Given the description of an element on the screen output the (x, y) to click on. 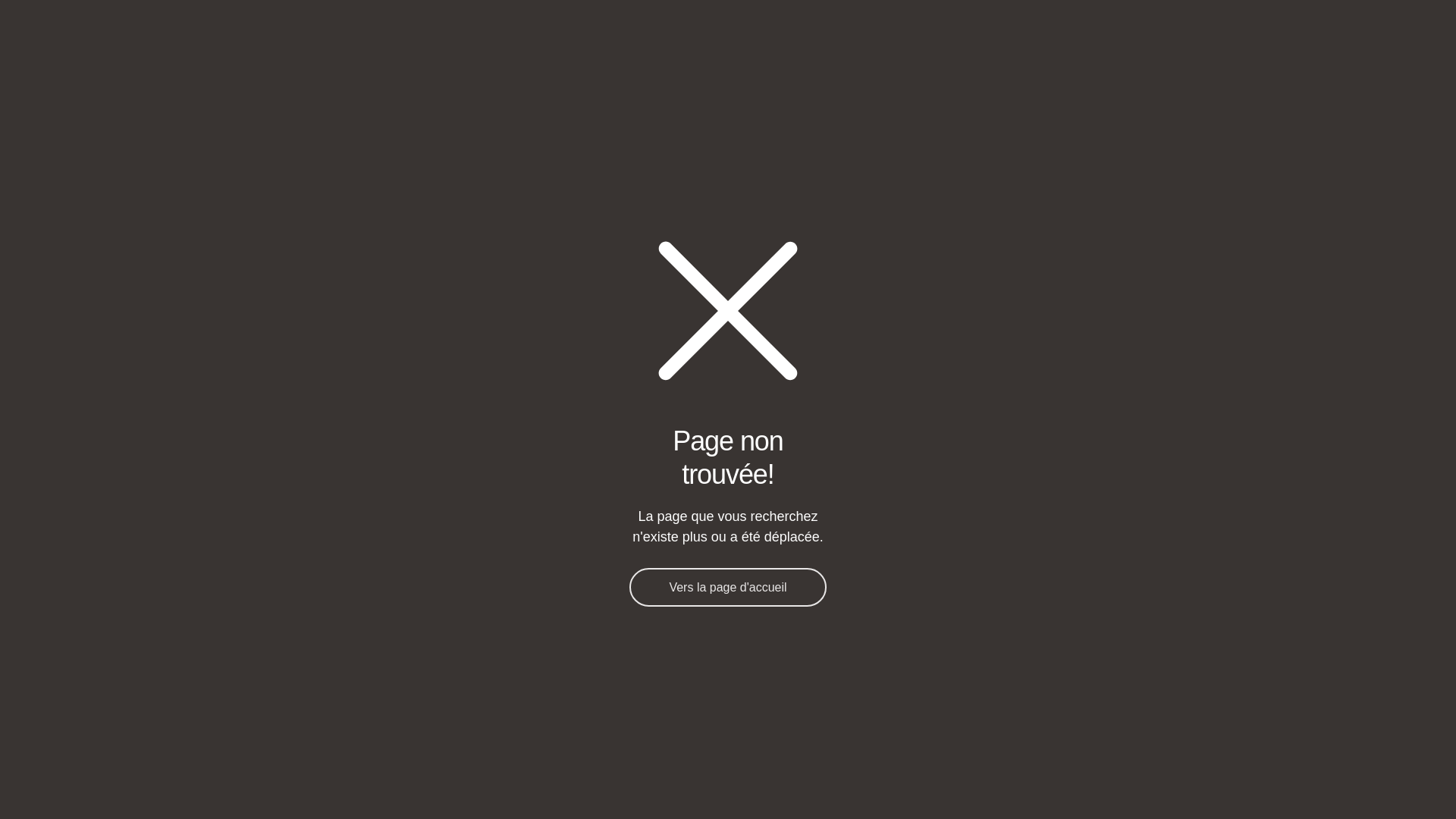
Vers la page d'accueil Element type: text (727, 586)
